Given the description of an element on the screen output the (x, y) to click on. 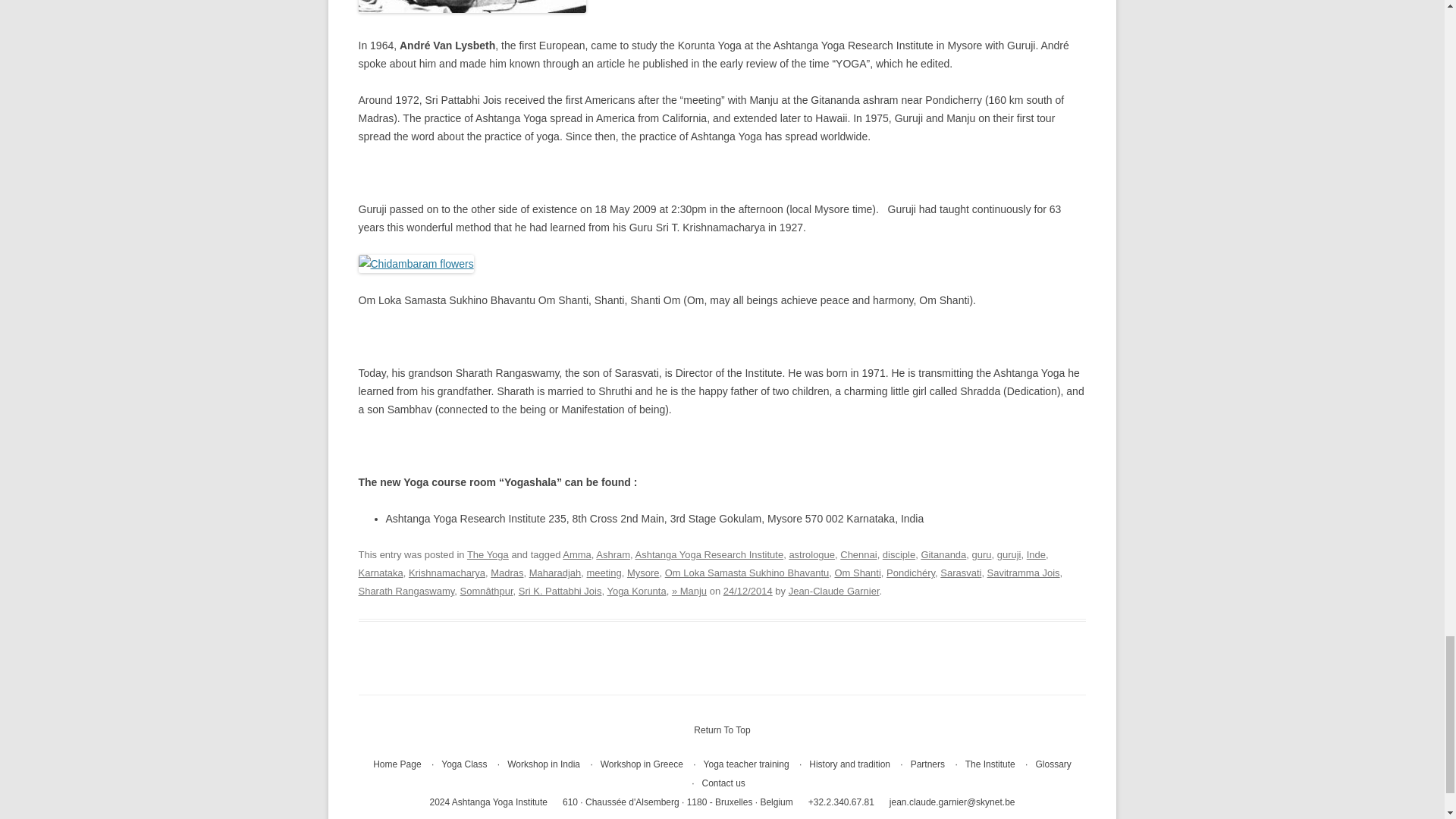
09:27 (748, 591)
View all posts by Jean-Claude Garnier (834, 591)
